Given the description of an element on the screen output the (x, y) to click on. 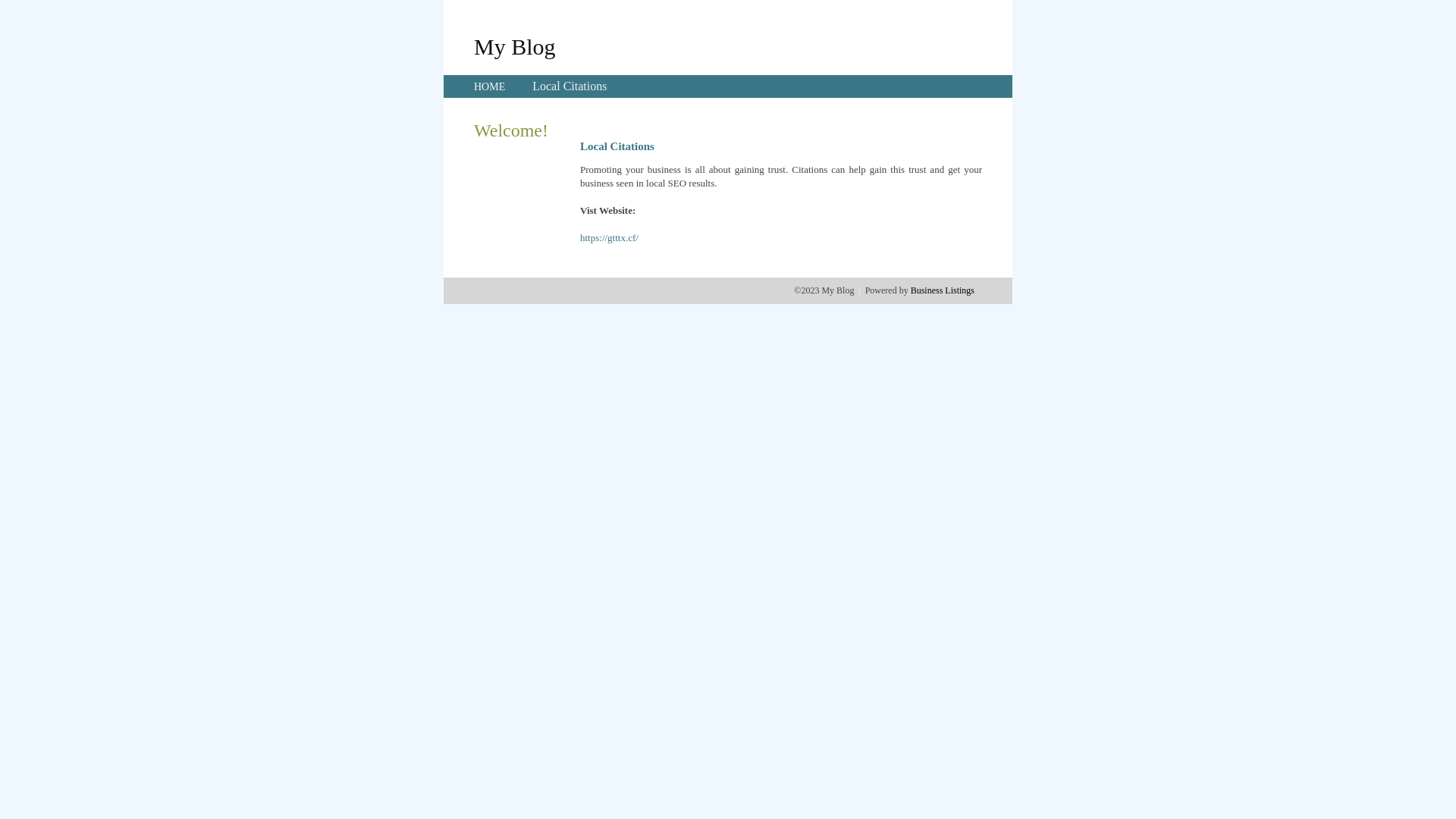
My Blog Element type: text (514, 46)
https://gtttx.cf/ Element type: text (609, 237)
Local Citations Element type: text (569, 85)
Business Listings Element type: text (942, 290)
HOME Element type: text (489, 86)
